Given the description of an element on the screen output the (x, y) to click on. 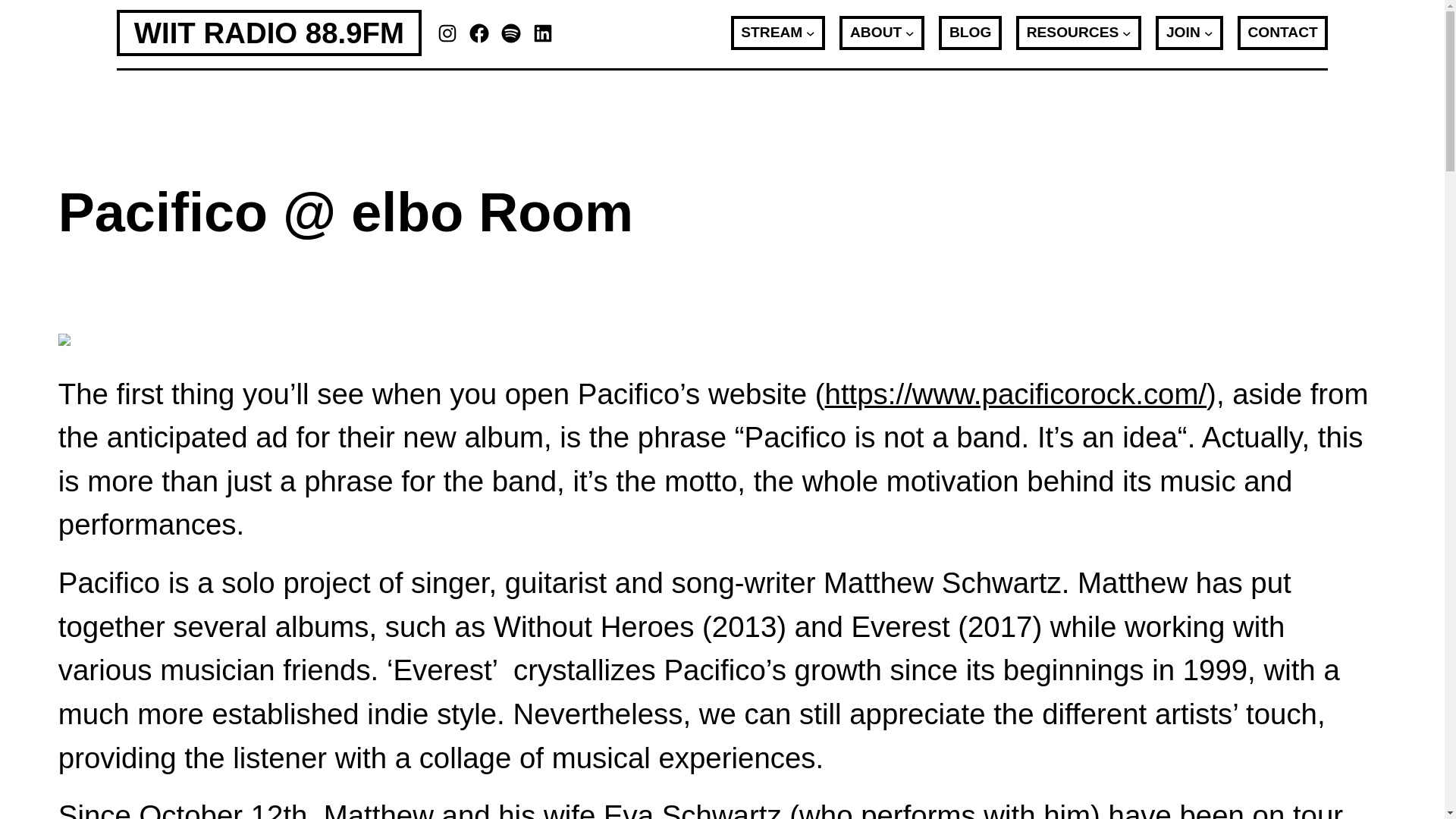
BLOG (970, 33)
STREAM (771, 33)
Instagram (446, 33)
Facebook (478, 33)
WIIT RADIO 88.9FM (268, 32)
Spotify (510, 33)
JOIN (1182, 33)
Follow Our Linked (542, 33)
RESOURCES (1072, 33)
CONTACT (1282, 33)
ABOUT (875, 33)
